Given the description of an element on the screen output the (x, y) to click on. 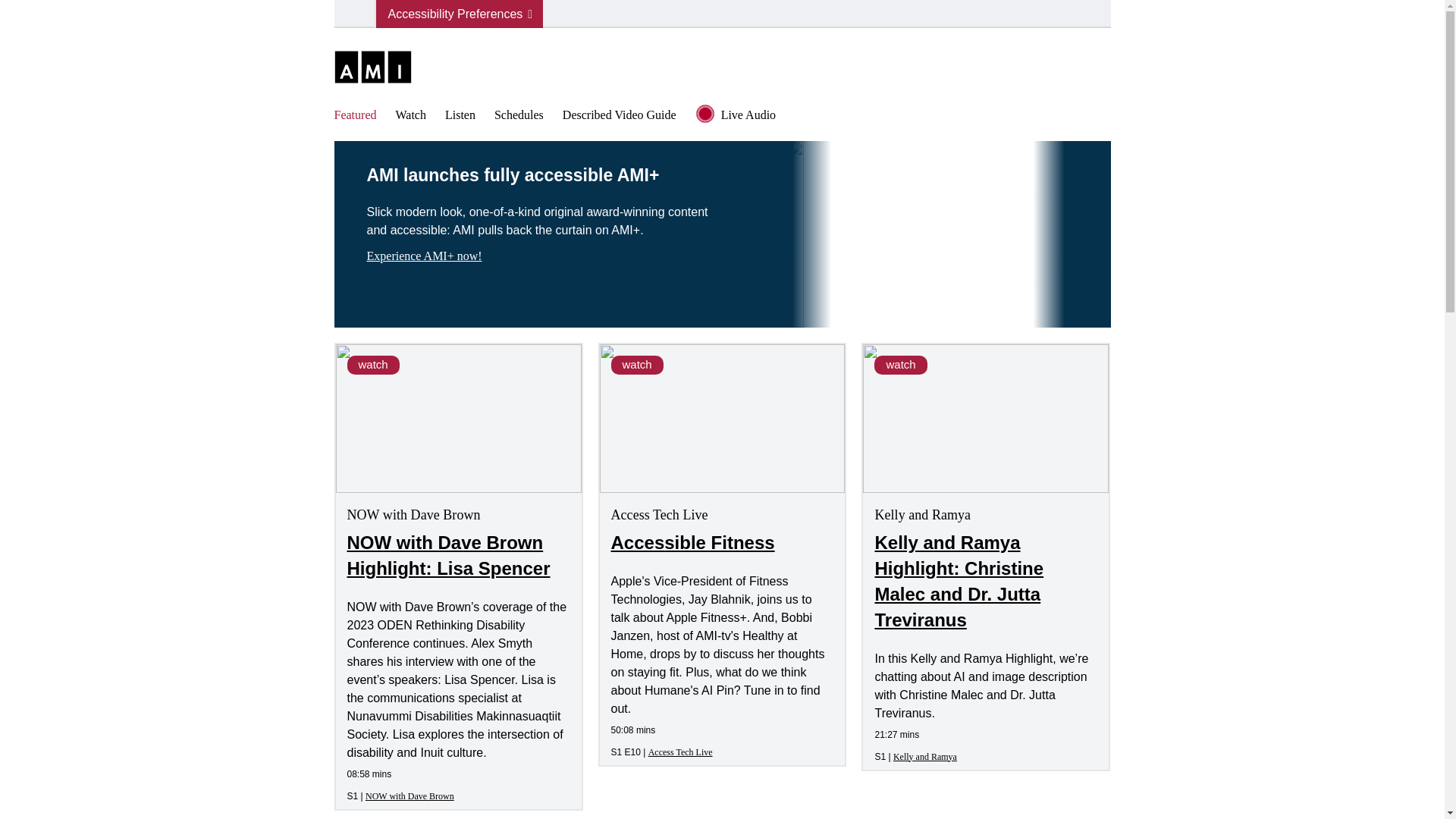
Show Access Tech Live:
Accessible Fitness
, watch video Element type: text (722, 542)
Watch Element type: text (410, 113)
Listen Element type: text (460, 113)
Enter the terms you wish to search for. Element type: hover (354, 13)
Accessibility Preferences Element type: text (459, 14)
Featured Element type: text (354, 113)
Described Video Guide Element type: text (619, 113)
Experience AMI+ now! Element type: text (540, 256)
Schedules Element type: text (518, 113)
Show page:
Kelly and Ramya Element type: text (925, 755)
Search Element type: text (32, 12)
Show page:
Access Tech Live Element type: text (680, 751)
Live Audio Element type: text (766, 115)
Show page:
NOW with Dave Brown Element type: text (409, 795)
Skip to main content Element type: text (0, 0)
